Given the description of an element on the screen output the (x, y) to click on. 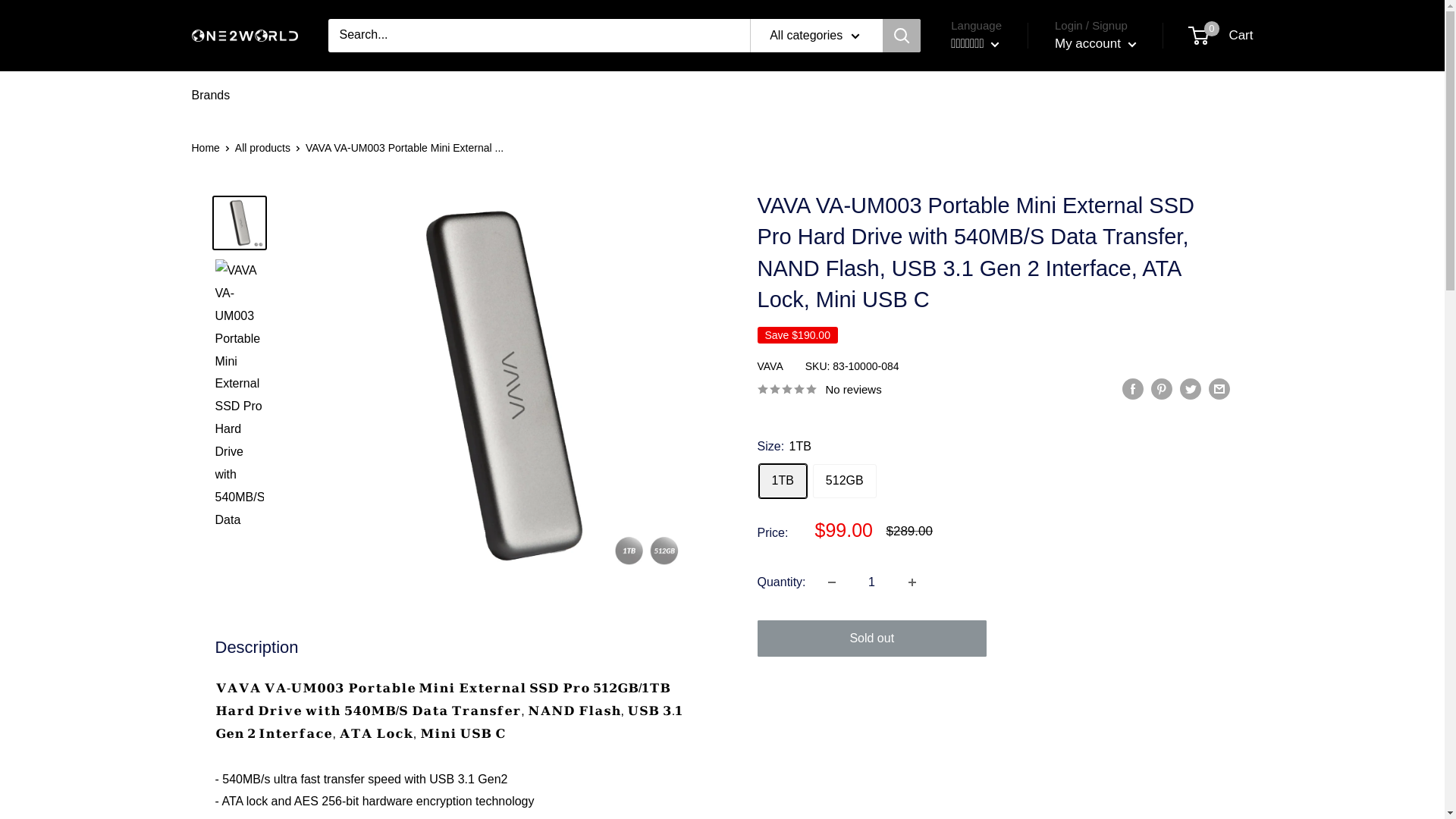
ONE2WORLD (243, 35)
Increase quantity by 1 (912, 582)
1 (871, 582)
en (978, 87)
512GB (1221, 35)
id (844, 480)
th (978, 110)
1TB (978, 156)
Decrease quantity by 1 (782, 480)
